Given the description of an element on the screen output the (x, y) to click on. 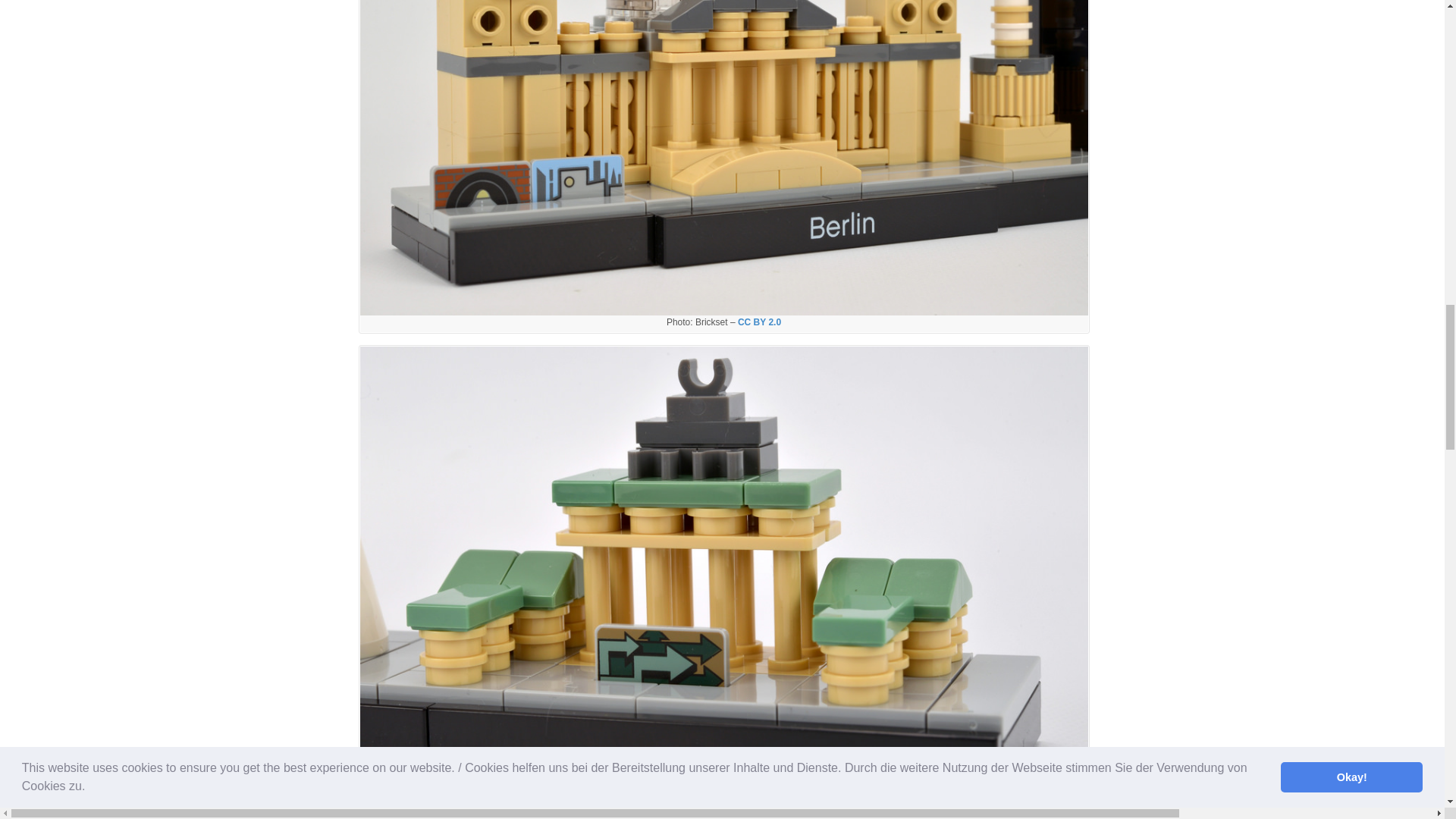
CC BY 2.0 (759, 321)
